Given the description of an element on the screen output the (x, y) to click on. 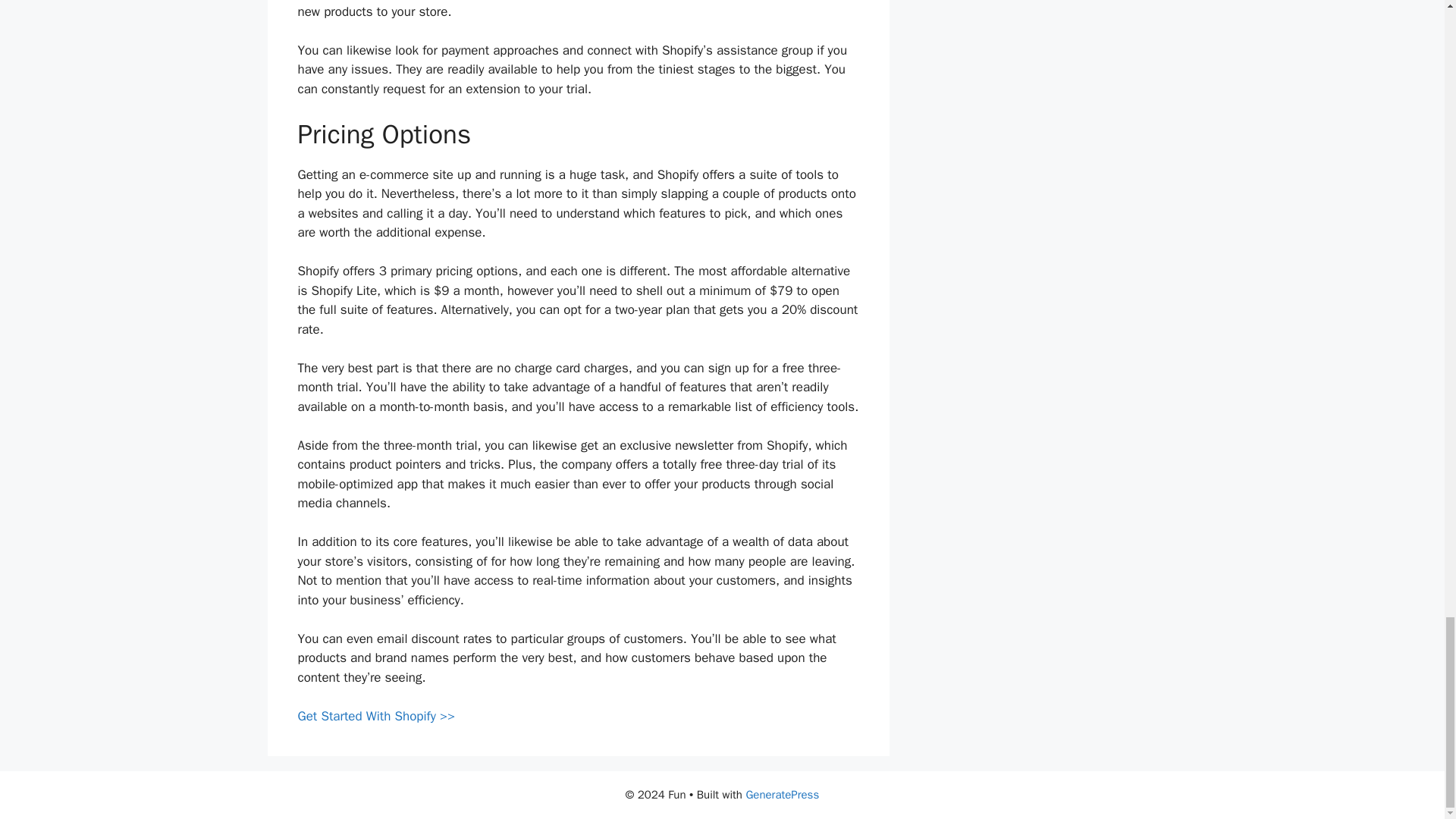
GeneratePress (781, 794)
